Given the description of an element on the screen output the (x, y) to click on. 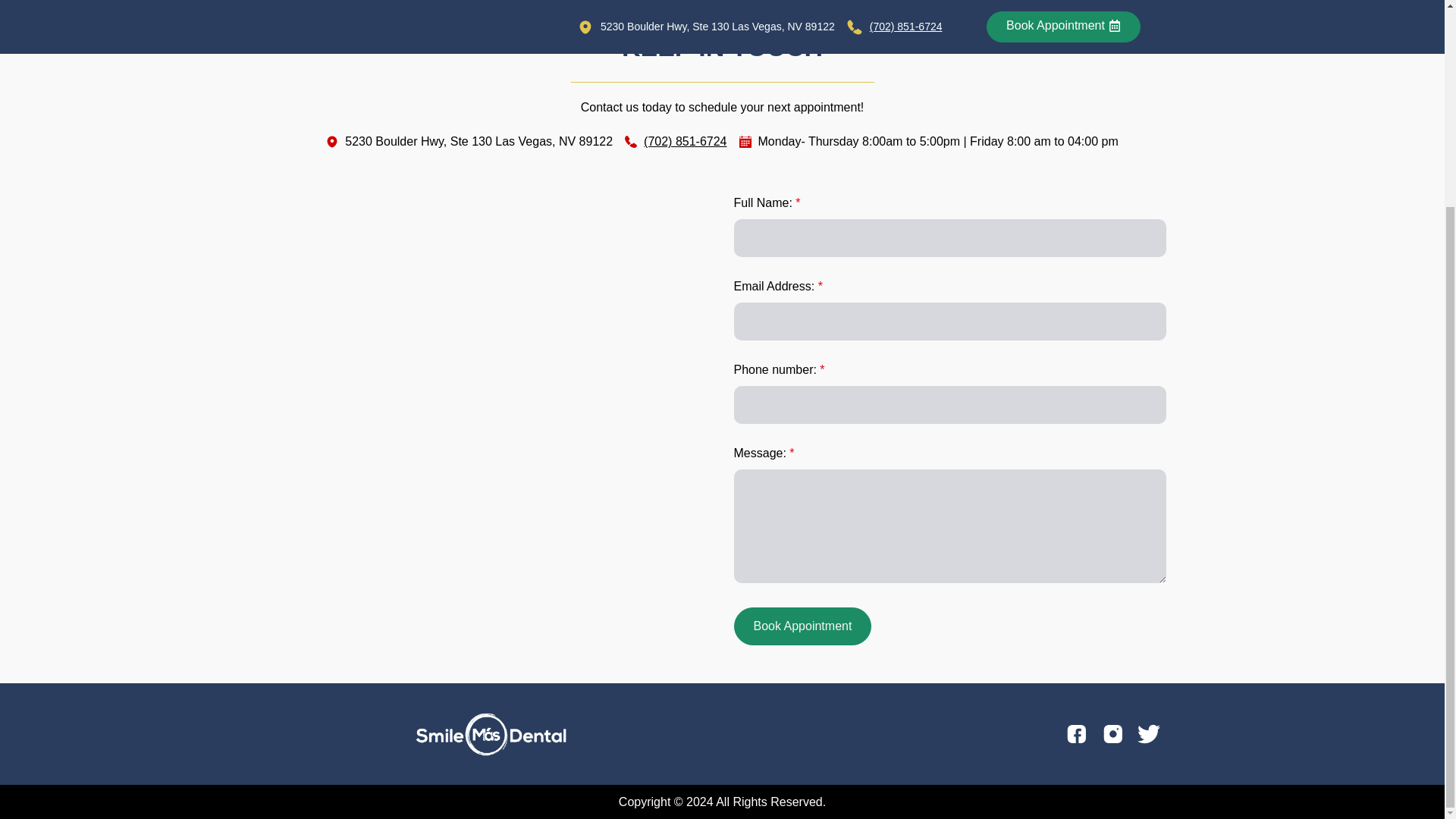
Book Appointment (802, 626)
